Given the description of an element on the screen output the (x, y) to click on. 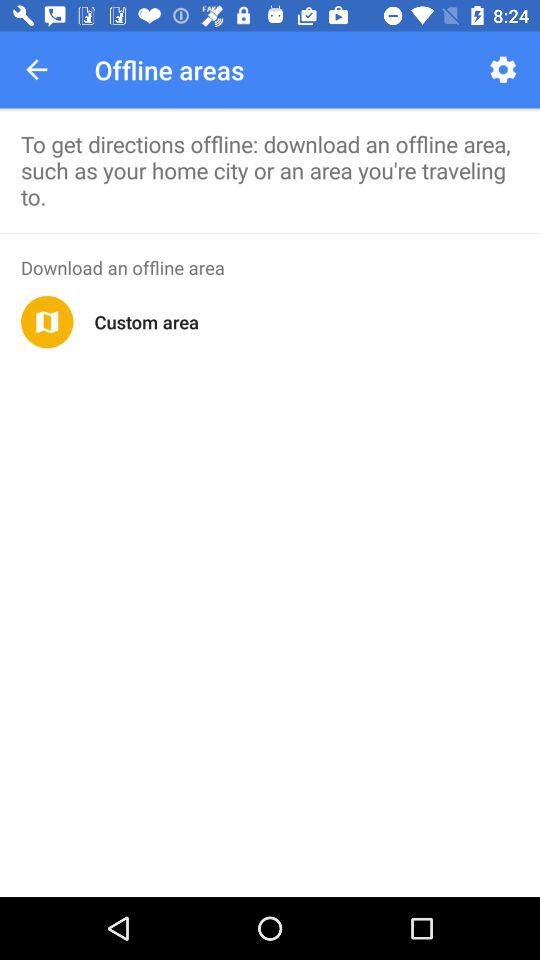
open the item next to custom area (47, 321)
